Given the description of an element on the screen output the (x, y) to click on. 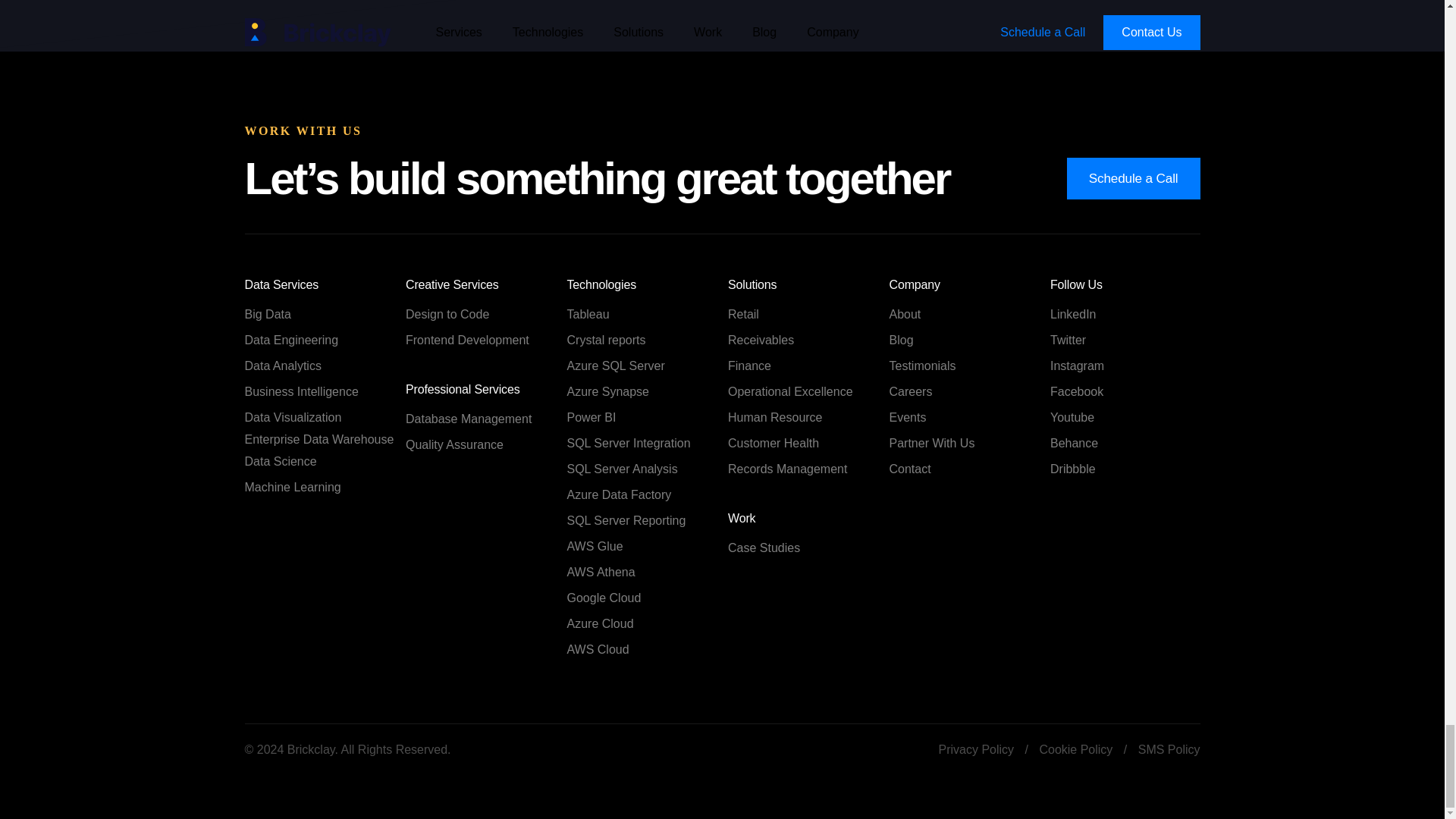
behance (1124, 443)
facebook (1124, 391)
dribble (1124, 469)
Youtube (1124, 417)
linkedin (1124, 314)
twitter (1124, 339)
